Given the description of an element on the screen output the (x, y) to click on. 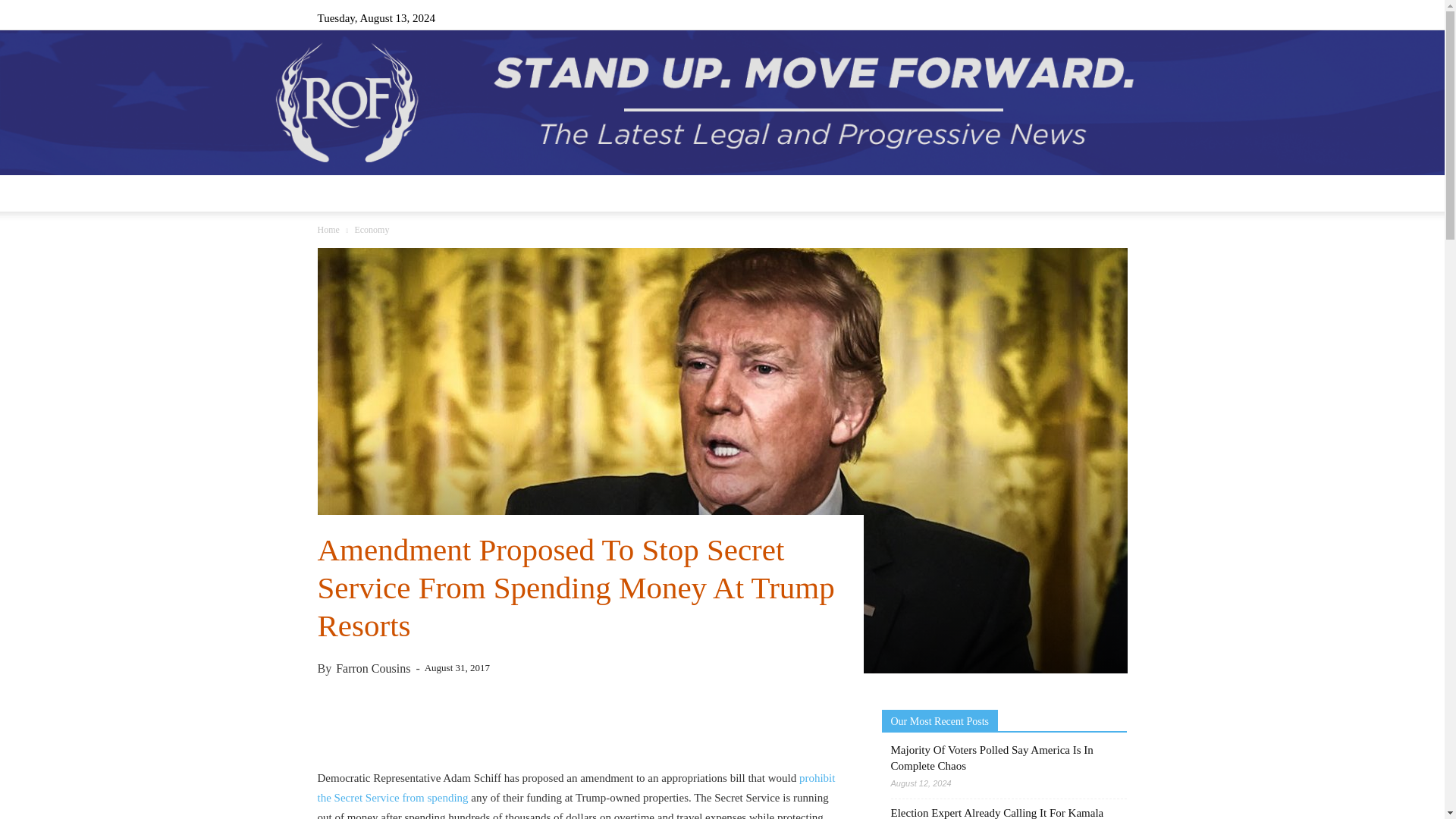
Instagram (1040, 17)
Youtube (1114, 17)
Facebook (1015, 17)
RSS (1065, 17)
Twitter (1090, 17)
